Given the description of an element on the screen output the (x, y) to click on. 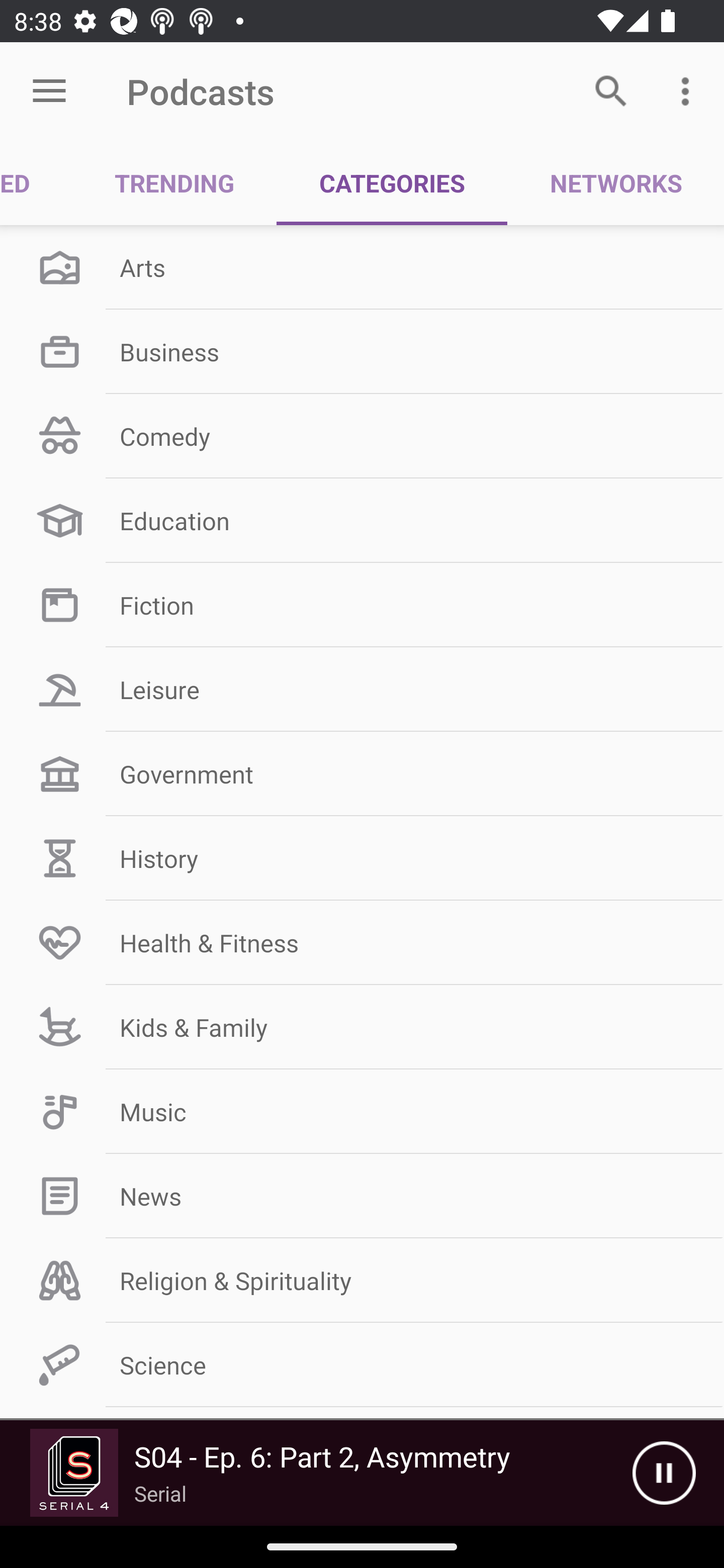
Open menu (49, 91)
Search (611, 90)
More options (688, 90)
TRENDING (174, 183)
CATEGORIES (391, 183)
NETWORKS (615, 183)
Arts (362, 266)
Business (362, 350)
Comedy (362, 435)
Education (362, 520)
Fiction (362, 604)
Leisure (362, 689)
Government (362, 774)
History (362, 858)
Health & Fitness (362, 942)
Kids & Family (362, 1026)
Music (362, 1111)
News (362, 1196)
Religion & Spirituality (362, 1280)
Science (362, 1364)
Picture S04 - Ep. 6: Part 2, Asymmetry Serial (316, 1472)
Pause (663, 1472)
